Given the description of an element on the screen output the (x, y) to click on. 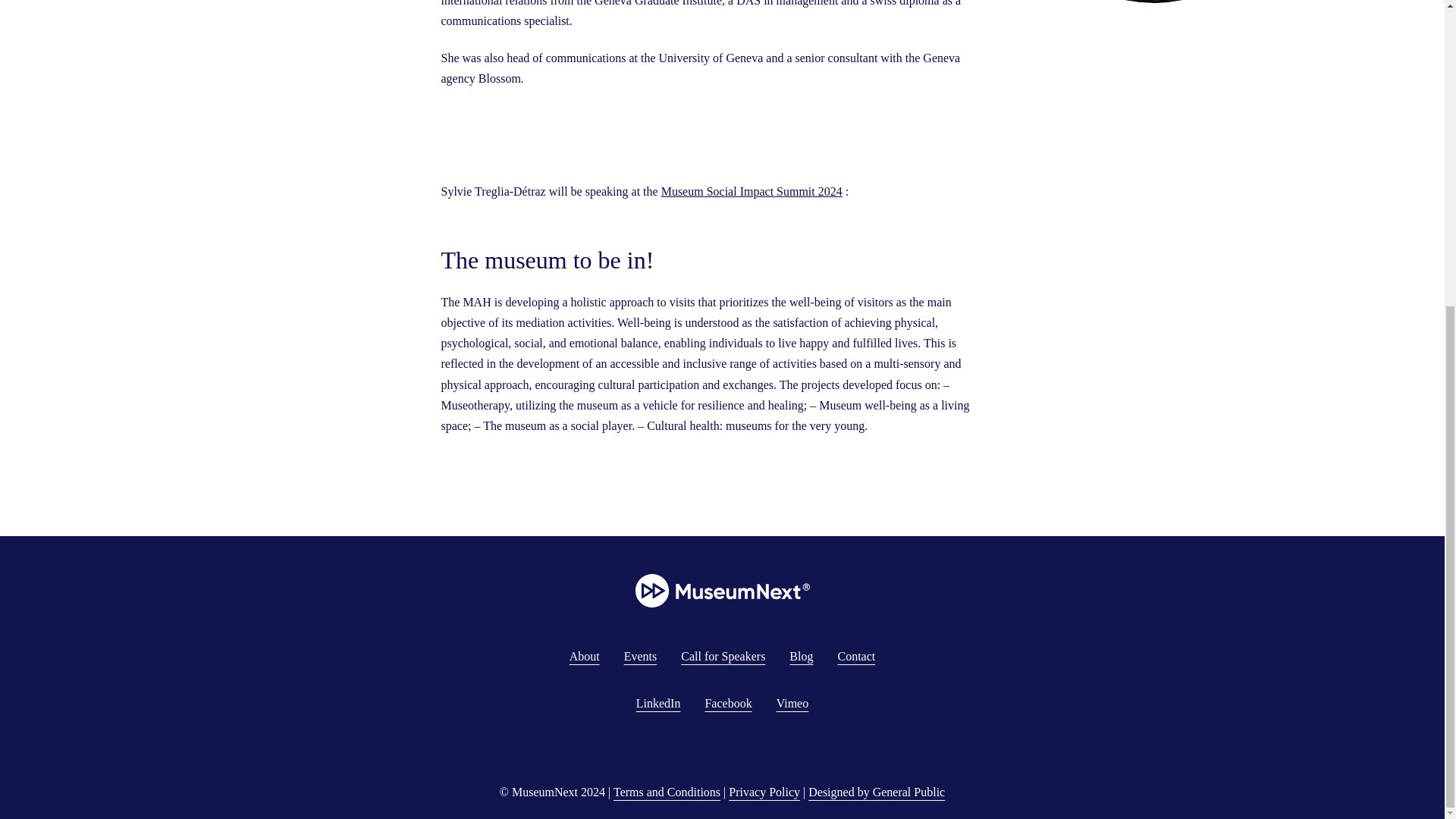
LinkedIn (658, 703)
Facebook (727, 703)
Call for Speakers (723, 656)
Museum Social Impact Summit 2024 (752, 191)
Designed by General Public (876, 791)
Events (641, 656)
Privacy Policy (764, 791)
Terms and Conditions (666, 791)
Vimeo (792, 703)
About (584, 656)
Contact (856, 656)
Blog (800, 656)
